Given the description of an element on the screen output the (x, y) to click on. 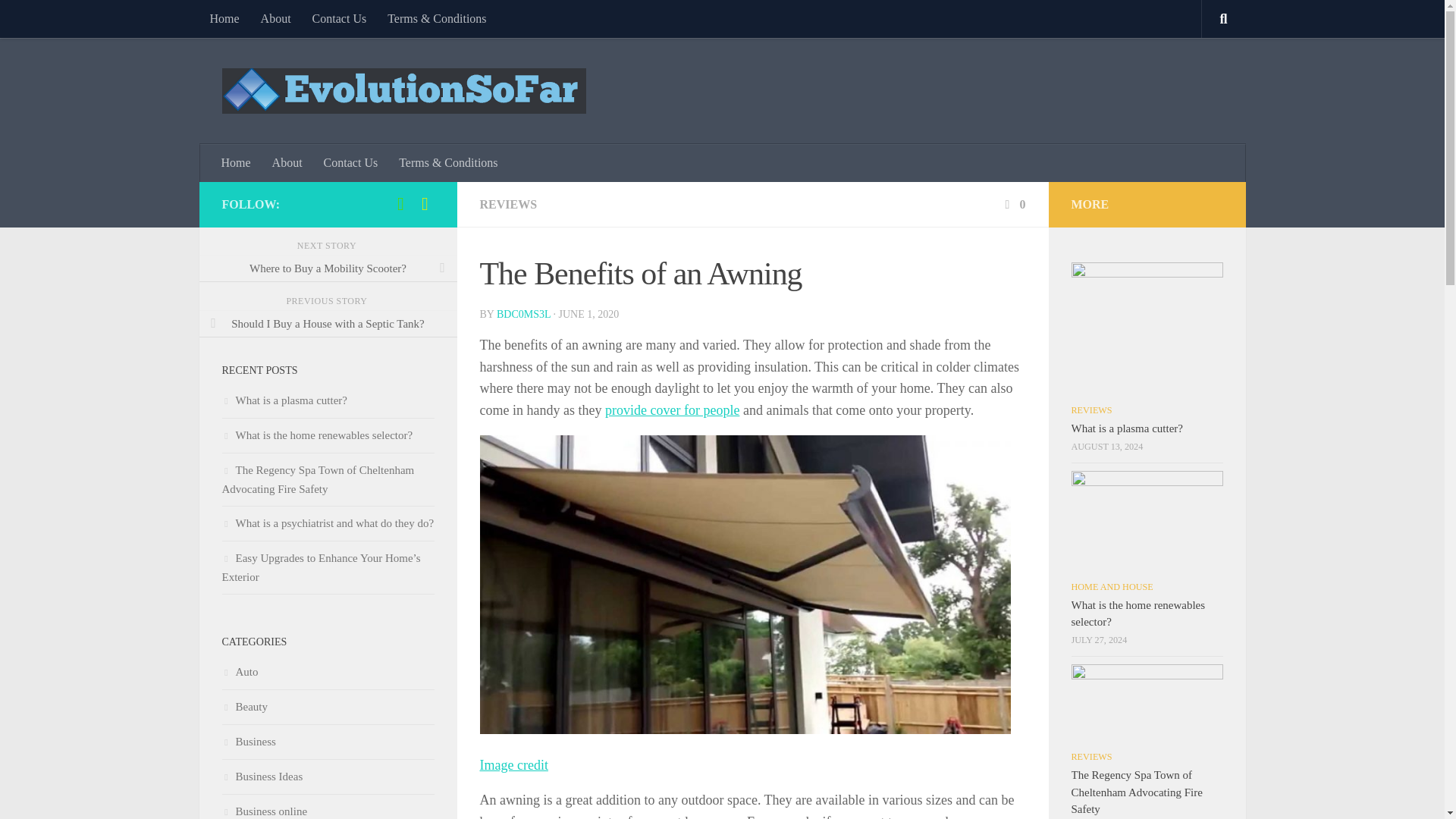
Image credit (513, 765)
Contact Us (350, 162)
Home (236, 162)
Skip to content (59, 20)
REVIEWS (508, 204)
About (275, 18)
Contact Us (339, 18)
BDC0MS3L (523, 314)
About (287, 162)
provide cover for people (672, 409)
